Given the description of an element on the screen output the (x, y) to click on. 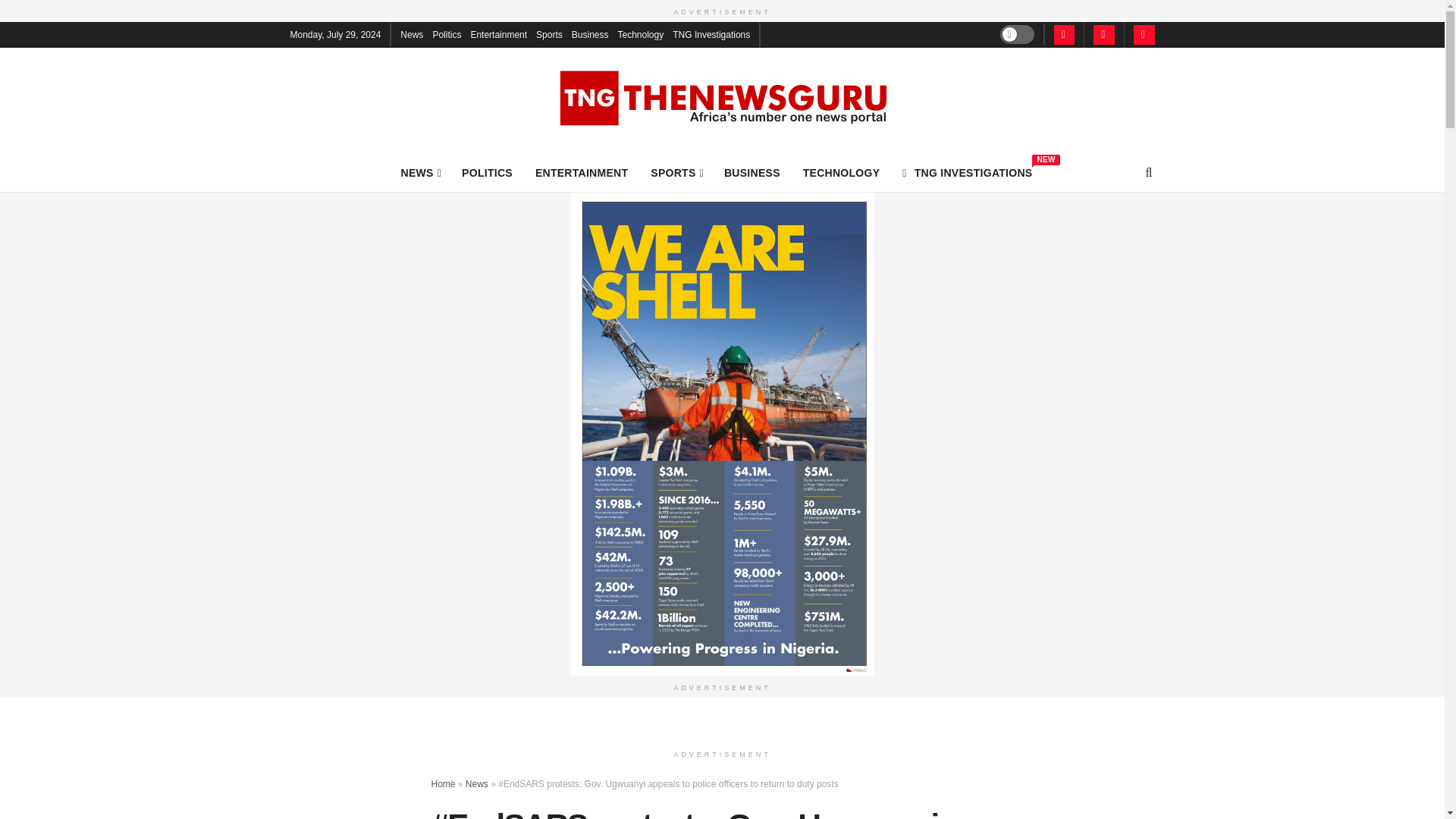
TNG Investigations (967, 172)
Technology (710, 33)
SPORTS (640, 33)
POLITICS (675, 172)
BUSINESS (486, 172)
NEWS (751, 172)
Sports (420, 172)
TECHNOLOGY (548, 33)
Business (841, 172)
ENTERTAINMENT (590, 33)
Entertainment (581, 172)
Politics (498, 33)
